Given the description of an element on the screen output the (x, y) to click on. 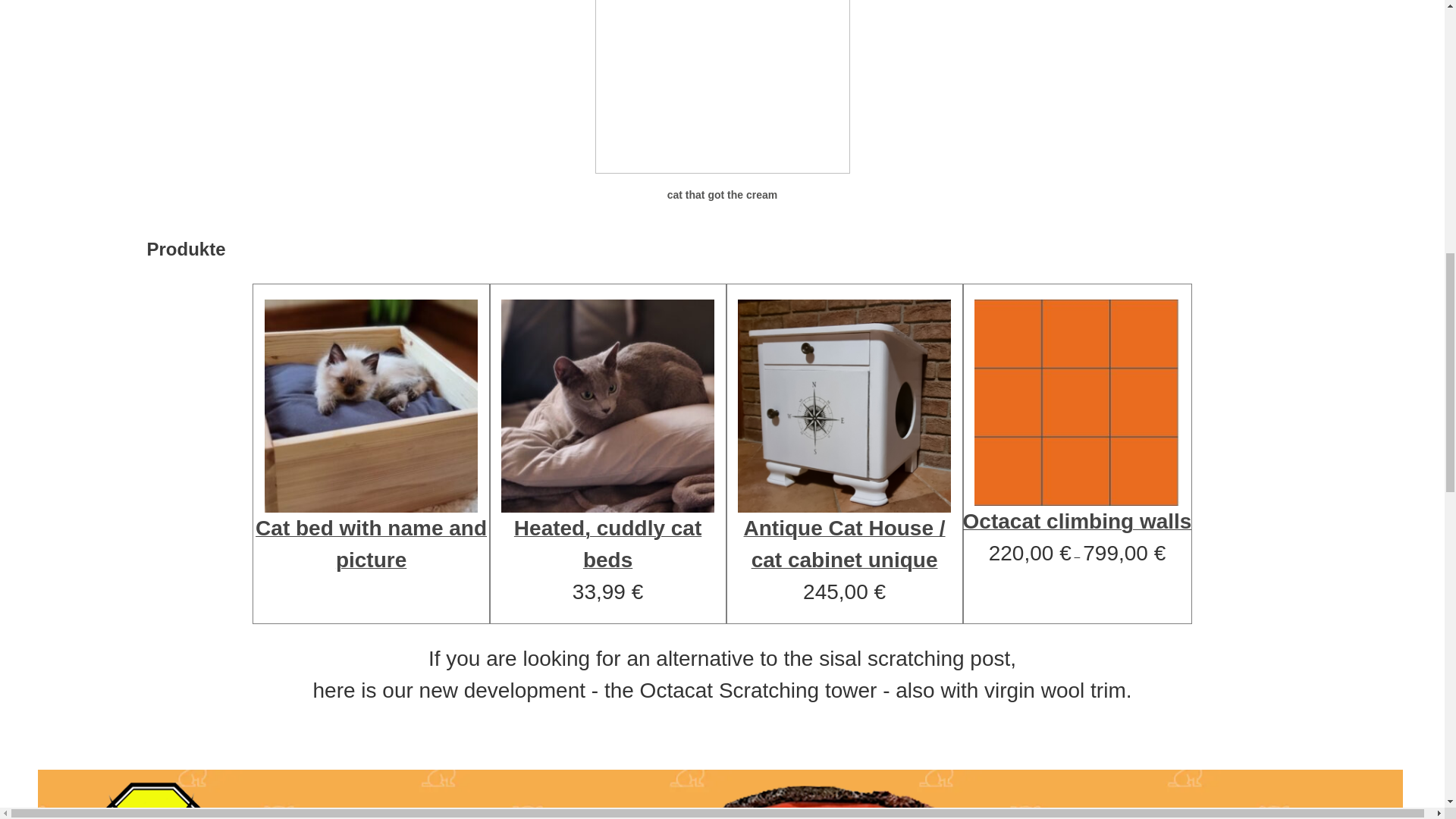
Octacat climbing walls (1077, 418)
